Given the description of an element on the screen output the (x, y) to click on. 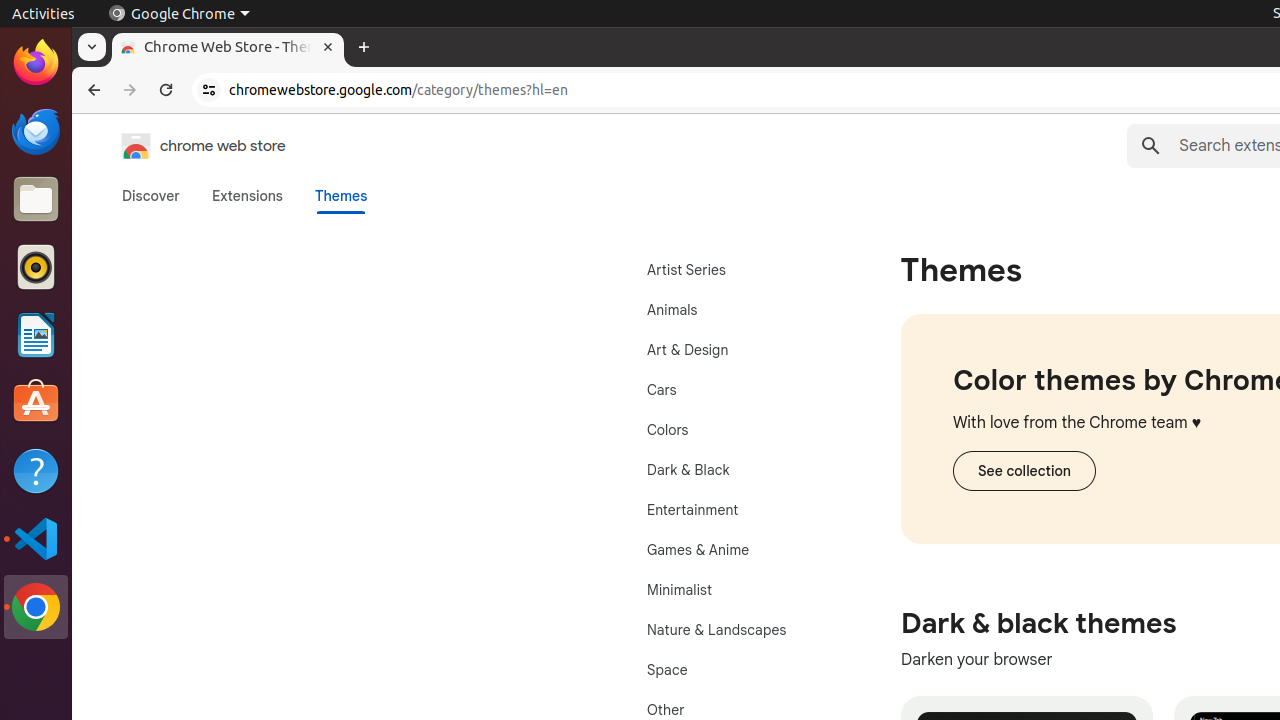
Extensions Element type: page-tab (247, 196)
